Given the description of an element on the screen output the (x, y) to click on. 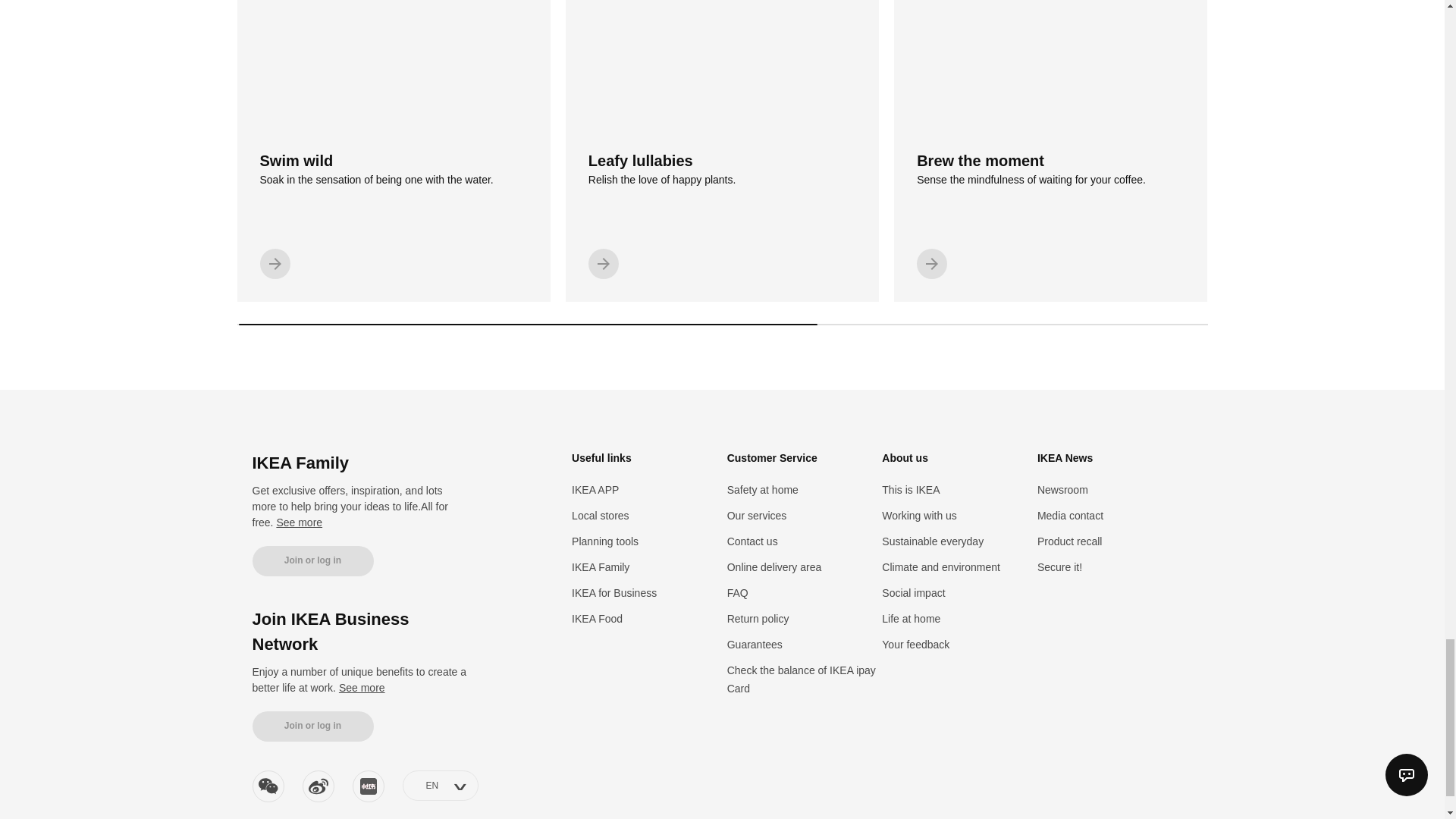
FAQ (737, 592)
Climate and environment (941, 567)
Return policy (757, 618)
IKEA Food (597, 618)
IKEA for Business (614, 592)
Contact us (751, 541)
Join or log in (392, 151)
Sustainable everyday (311, 726)
